Given the description of an element on the screen output the (x, y) to click on. 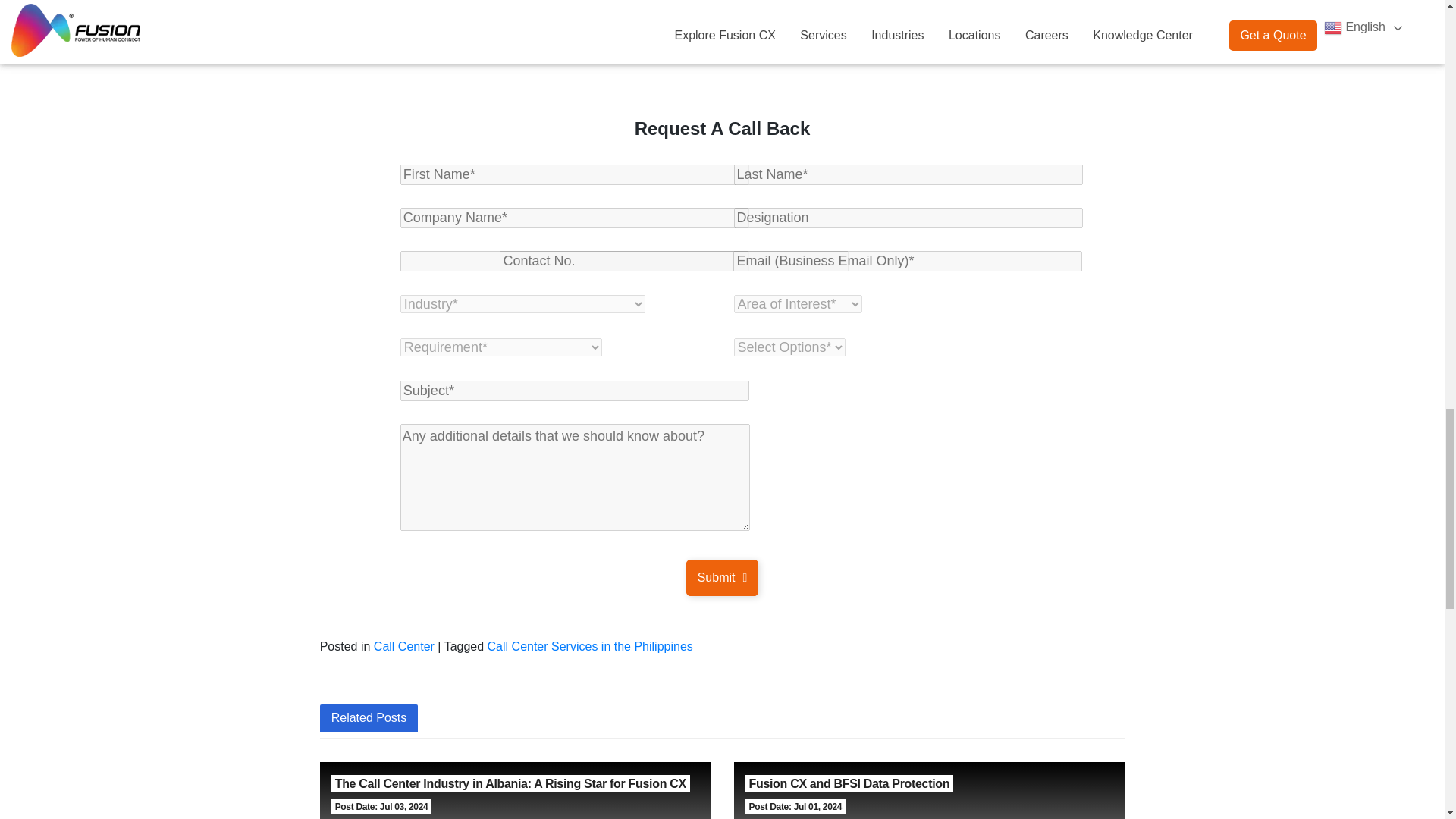
More (652, 49)
Pinterest (533, 49)
X (444, 49)
Mastodon (563, 49)
Linkedin (503, 49)
Facebook (414, 49)
Mix (592, 49)
Whatsapp (621, 49)
Reddit (474, 49)
